Given the description of an element on the screen output the (x, y) to click on. 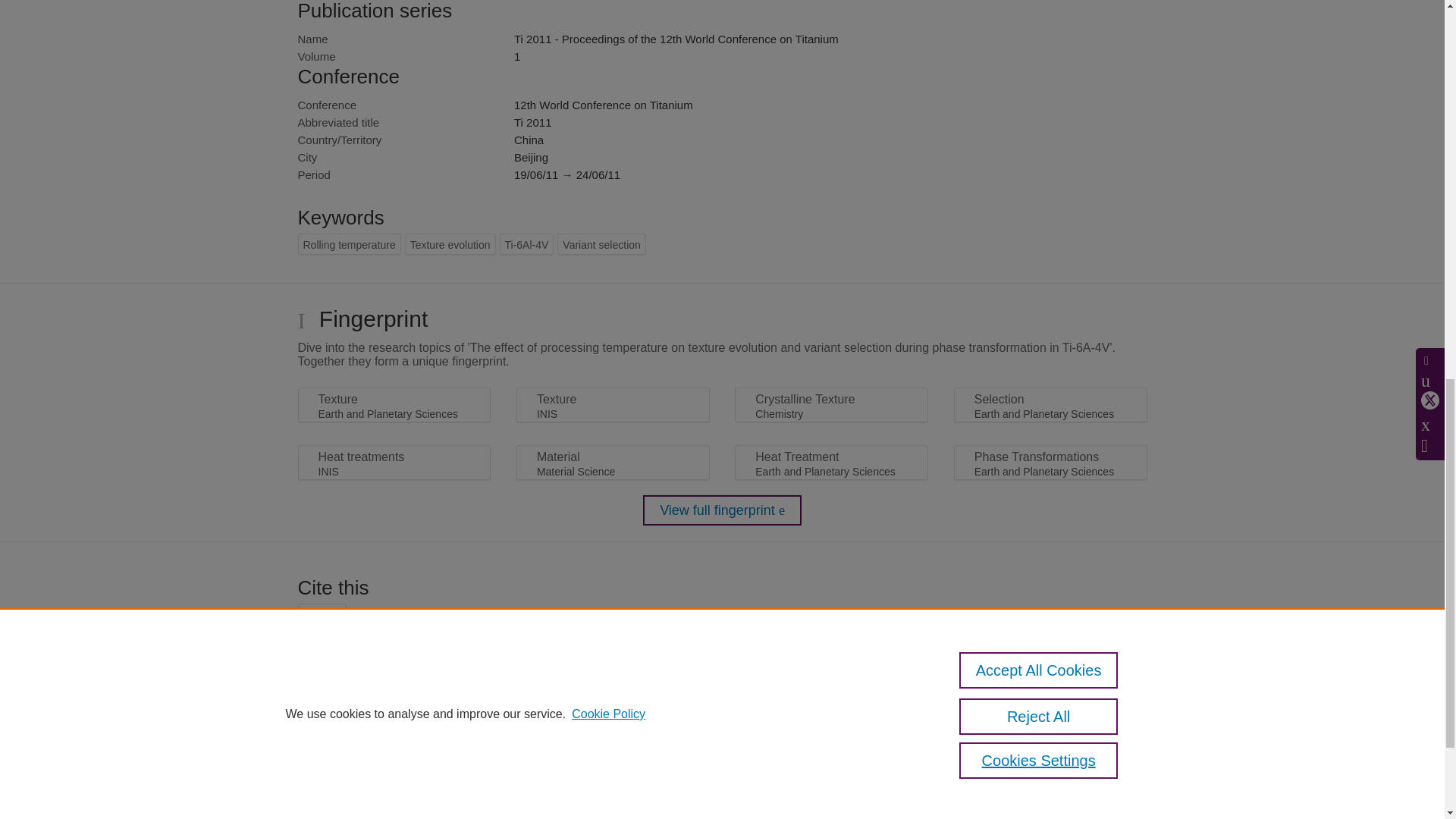
Scopus (547, 796)
View full fingerprint (722, 510)
Pure (515, 796)
